Given the description of an element on the screen output the (x, y) to click on. 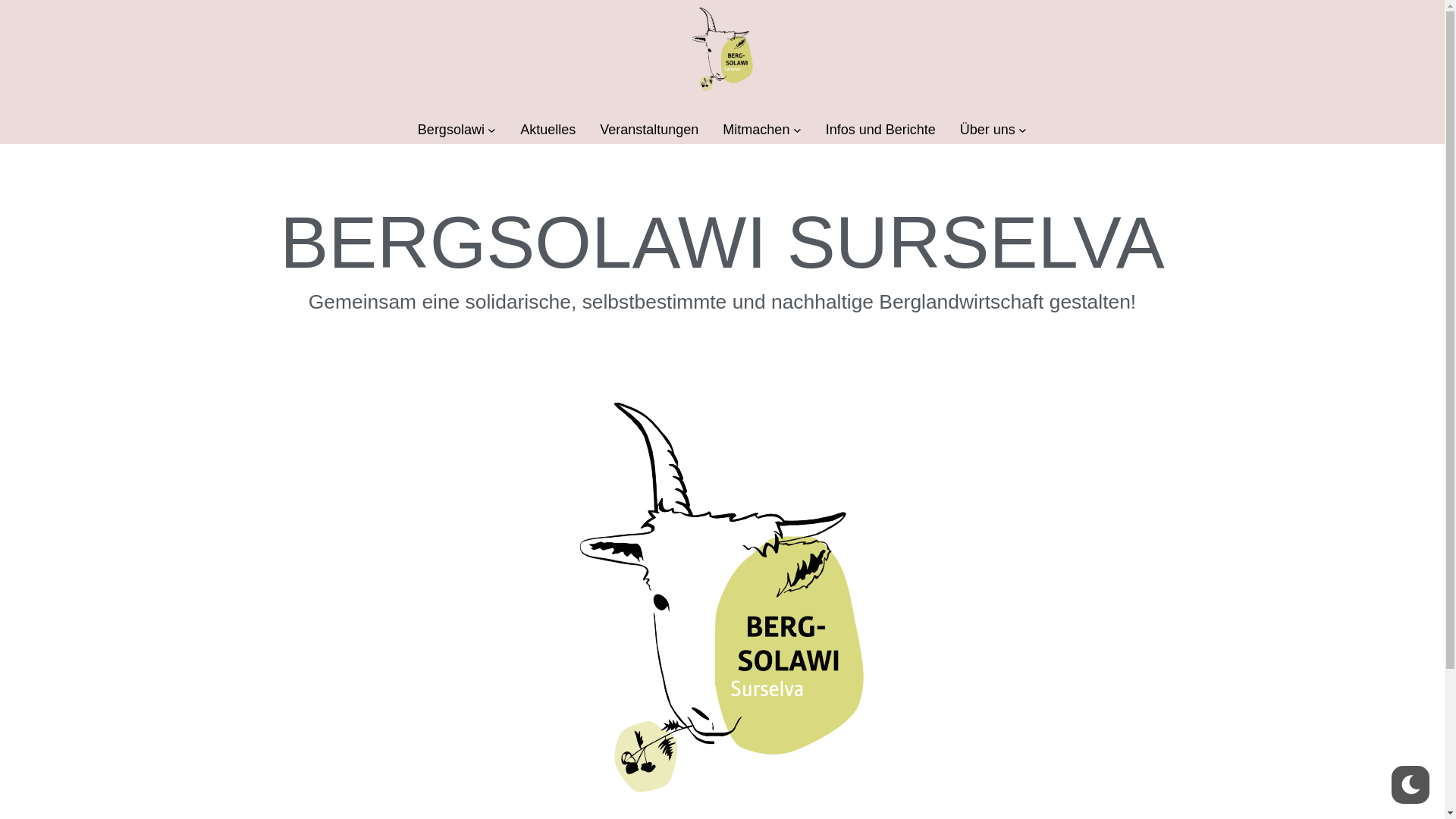
Infos und Berichte Element type: text (880, 129)
Mitmachen Element type: text (755, 129)
Veranstaltungen Element type: text (648, 129)
Bergsolawi Element type: text (450, 129)
Aktuelles Element type: text (547, 129)
